Given the description of an element on the screen output the (x, y) to click on. 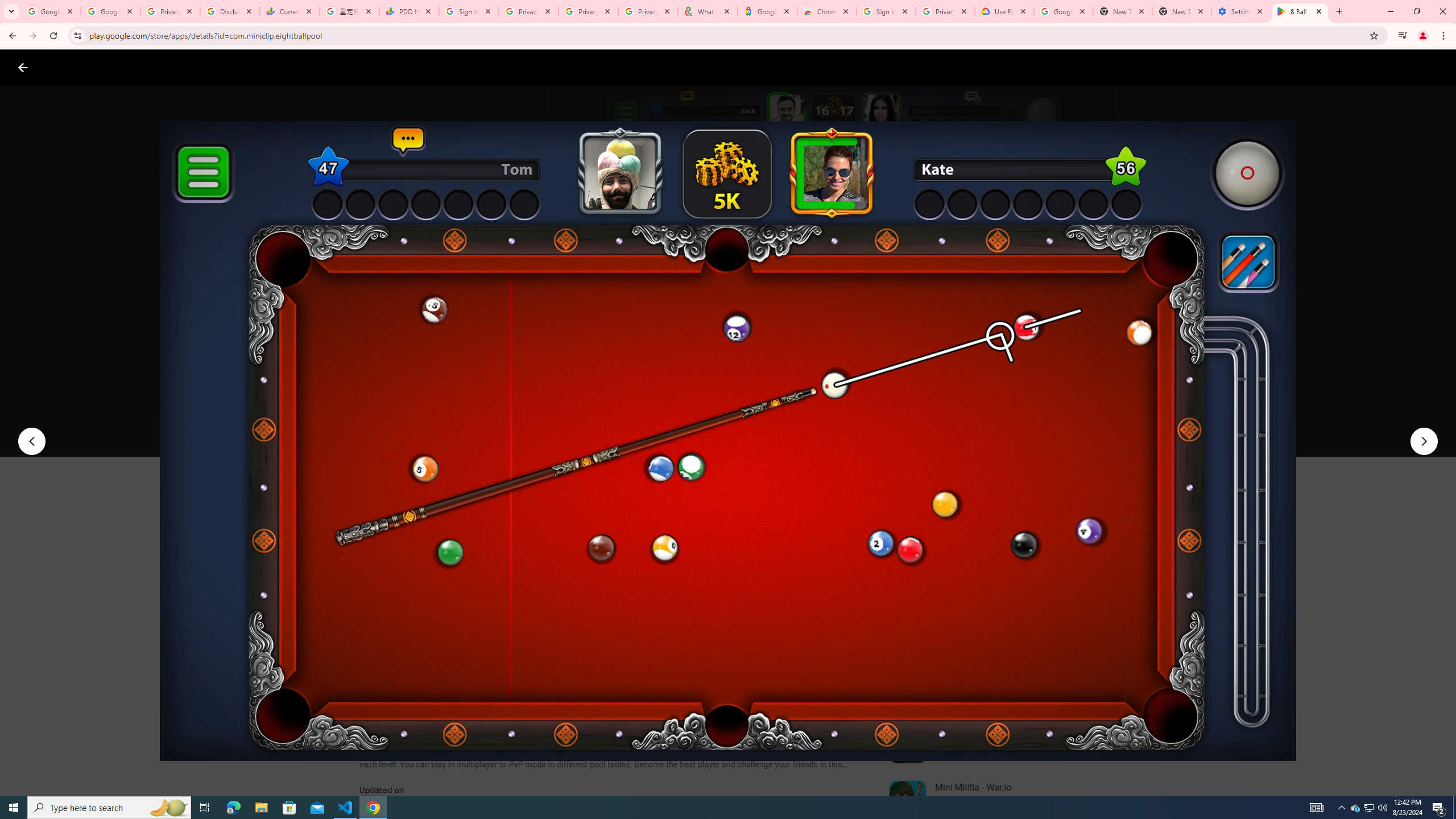
Miniclip.com (386, 333)
Install (416, 423)
See more information on More by Miniclip.com (1029, 539)
Games (141, 67)
Sign in - Google Accounts (468, 11)
